Given the description of an element on the screen output the (x, y) to click on. 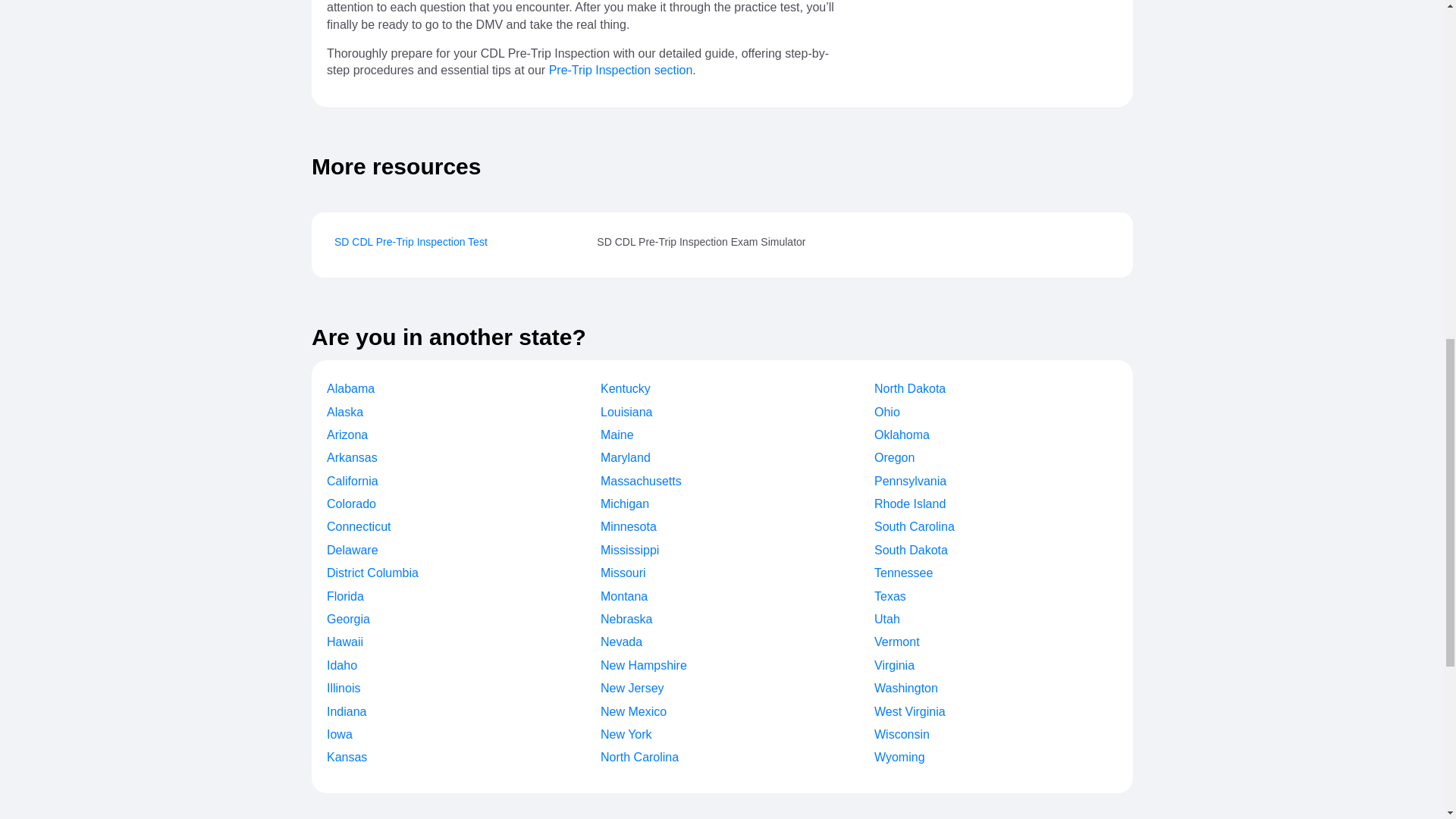
FREE SD CDL Pre-Trip Inspection Practice Exam (410, 241)
